Given the description of an element on the screen output the (x, y) to click on. 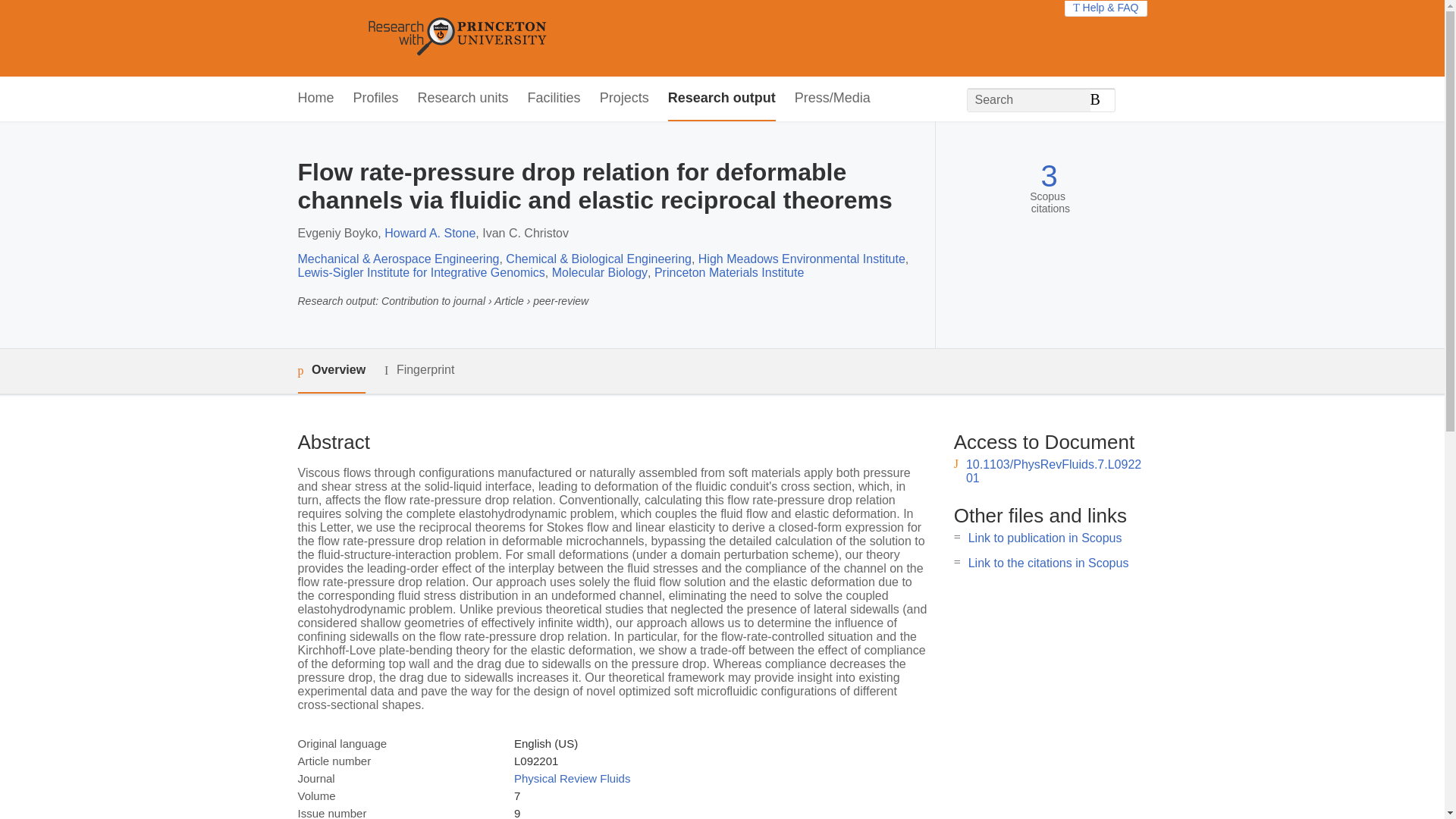
Link to the citations in Scopus (1048, 562)
Research units (462, 98)
Profiles (375, 98)
Projects (624, 98)
Molecular Biology (599, 272)
Princeton Materials Institute (728, 272)
Howard A. Stone (430, 232)
Overview (331, 370)
Link to publication in Scopus (1045, 537)
